Given the description of an element on the screen output the (x, y) to click on. 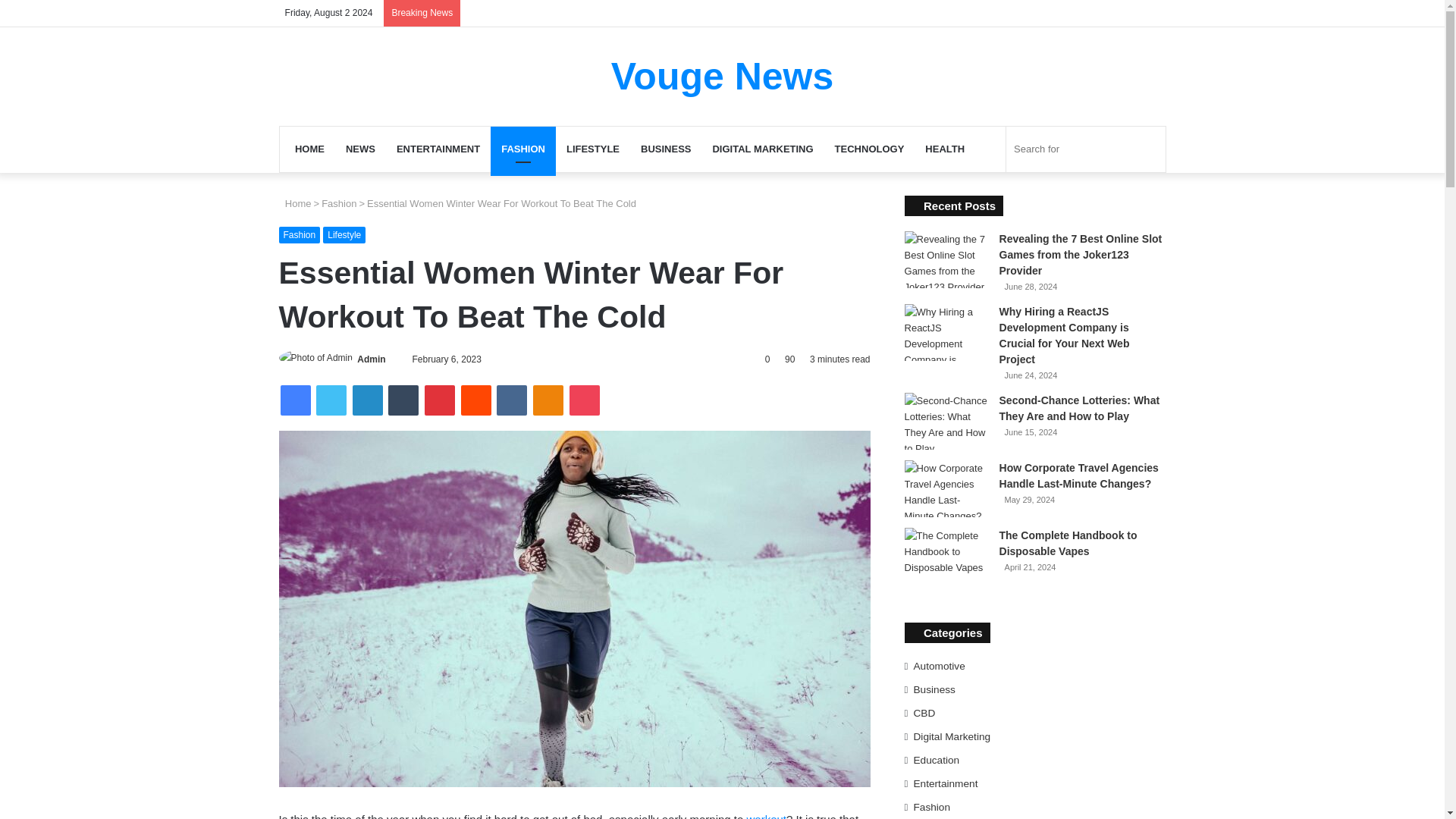
Pinterest (439, 399)
Facebook (296, 399)
Twitter (330, 399)
DIGITAL MARKETING (762, 148)
HOME (308, 148)
Odnoklassniki (547, 399)
NEWS (359, 148)
Home (295, 203)
Pinterest (439, 399)
TECHNOLOGY (869, 148)
BUSINESS (665, 148)
LinkedIn (367, 399)
HEALTH (944, 148)
LIFESTYLE (593, 148)
Reddit (476, 399)
